Given the description of an element on the screen output the (x, y) to click on. 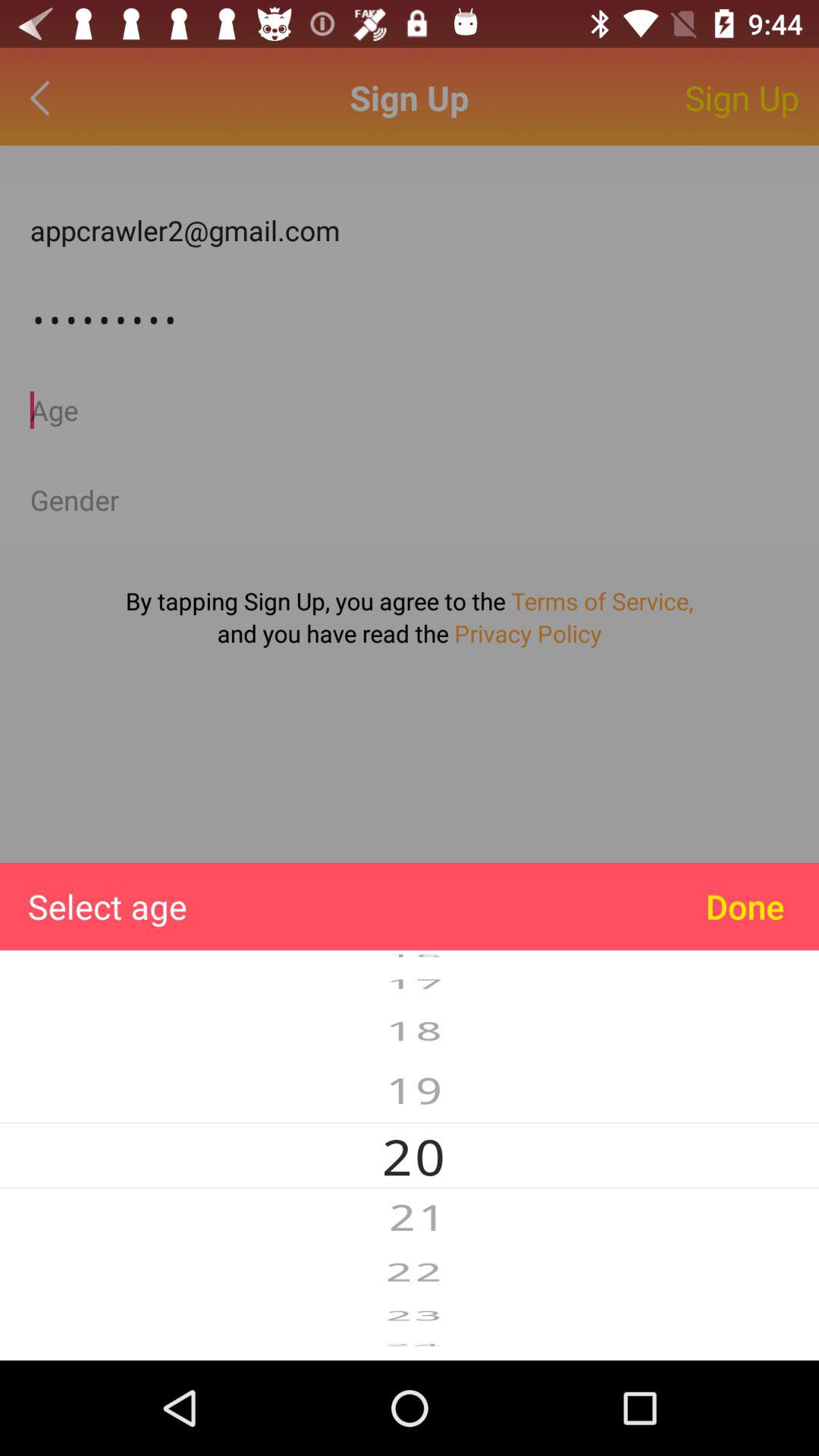
enter age (409, 410)
